Given the description of an element on the screen output the (x, y) to click on. 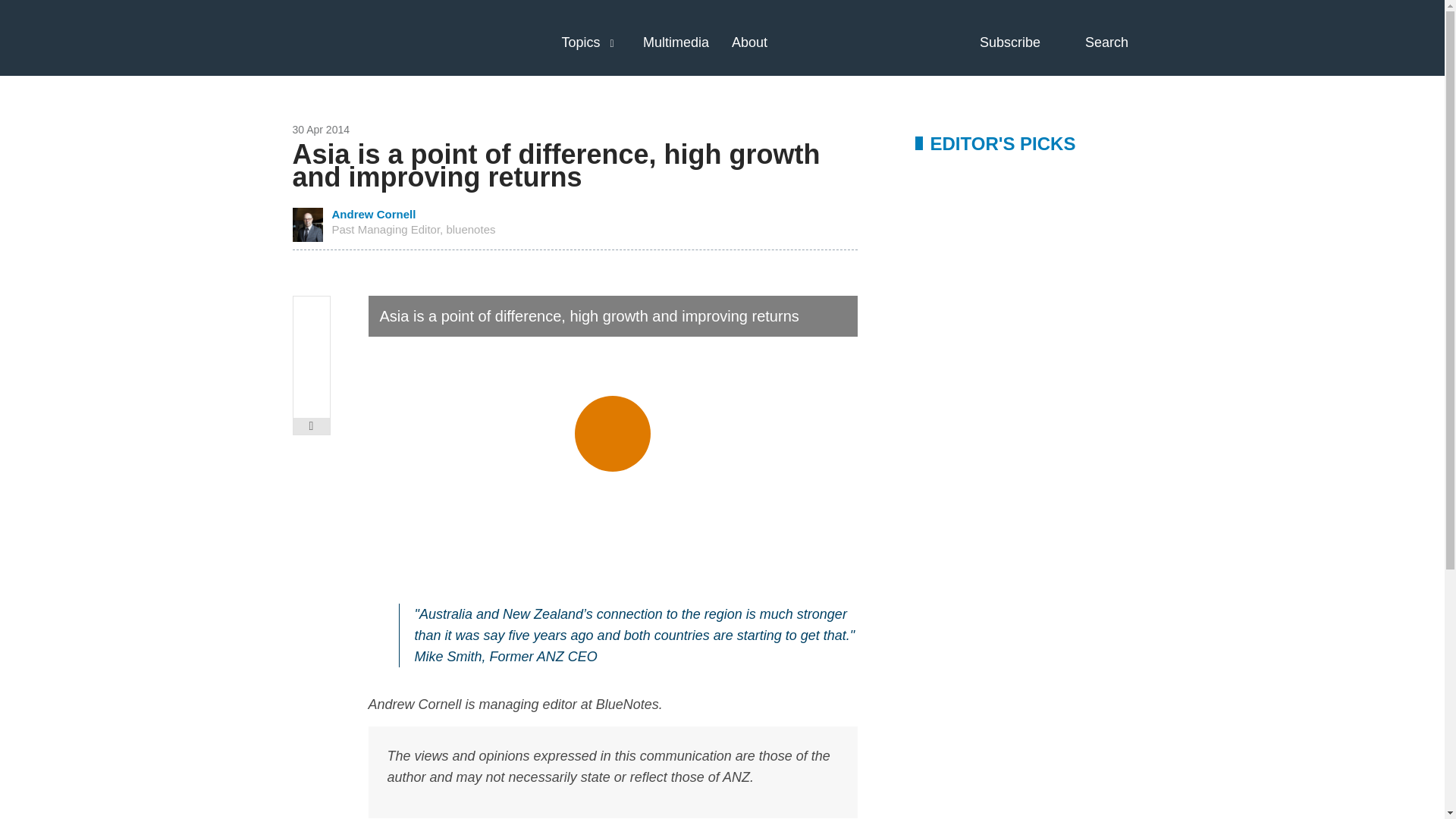
About (749, 42)
Search (1118, 42)
Topics (579, 42)
Multimedia (676, 42)
Subscribe (1023, 42)
